Given the description of an element on the screen output the (x, y) to click on. 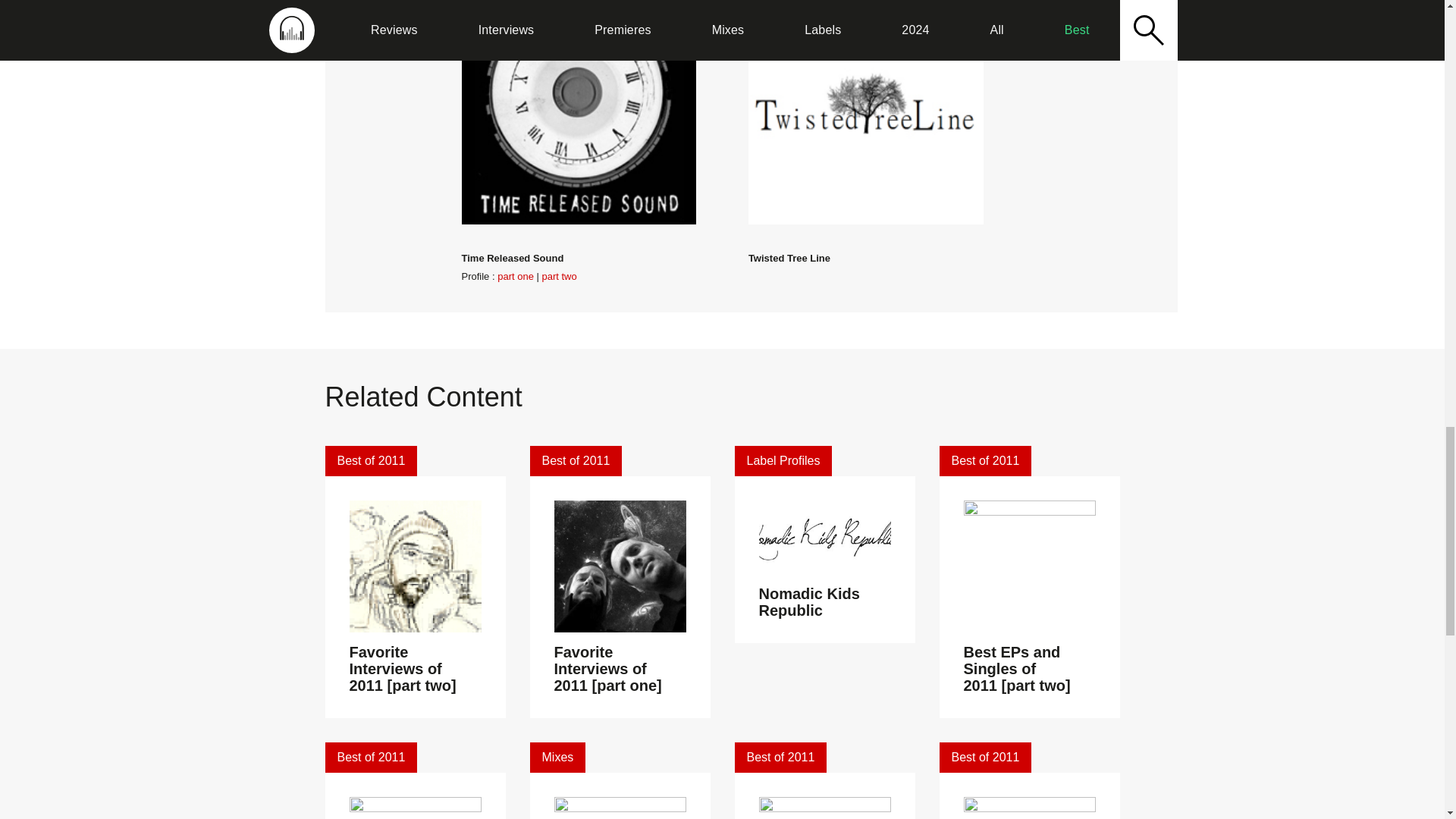
Best of 2011 (370, 757)
Nomadic Kids Republic (808, 602)
Best of 2011 (984, 460)
Label Profiles (782, 460)
Best of 2011 (370, 460)
part one (515, 276)
part two (558, 276)
Best of 2011 (575, 460)
